Given the description of an element on the screen output the (x, y) to click on. 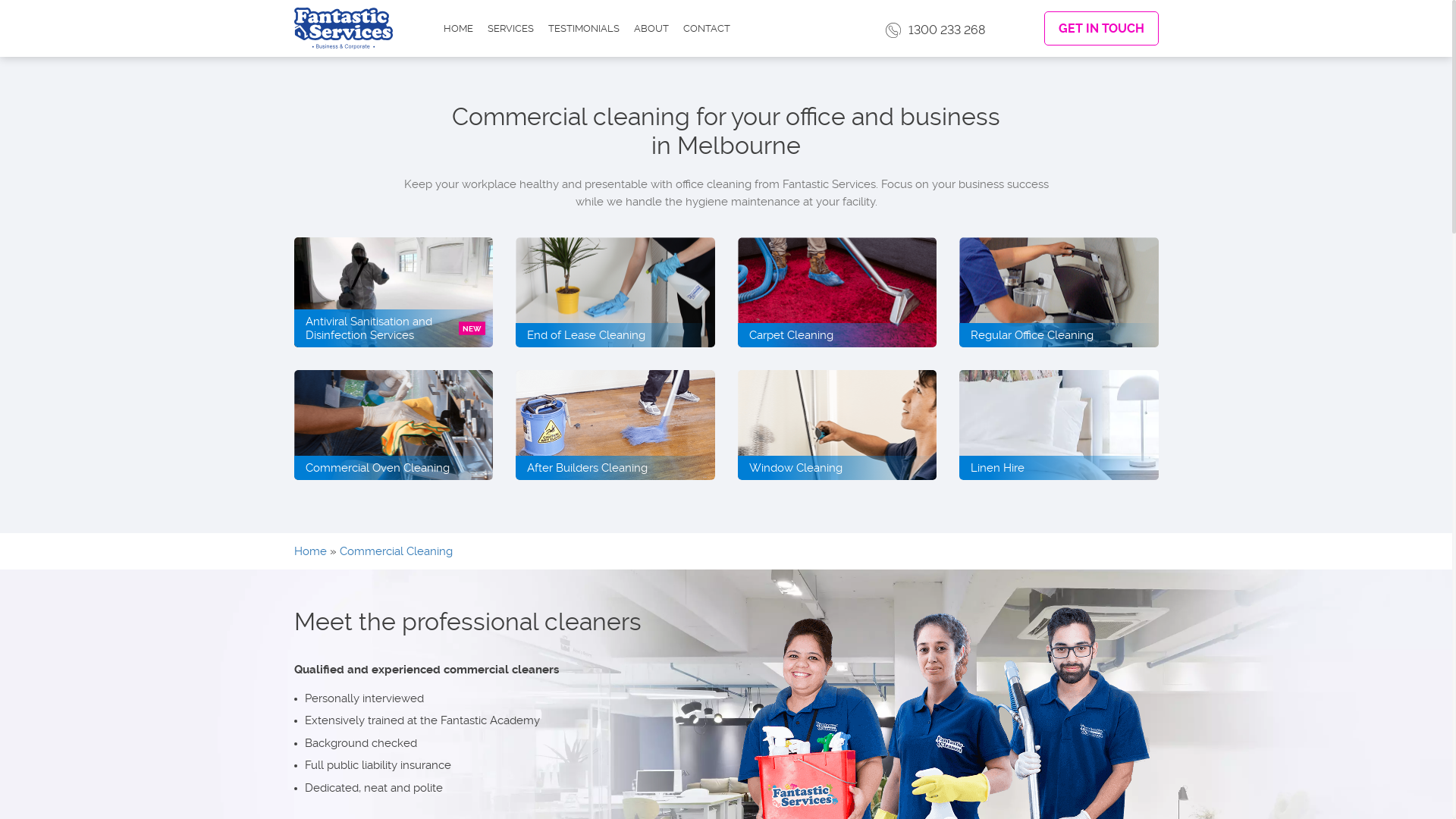
Linen Hire Element type: text (1058, 425)
1300 233 268 Element type: text (935, 29)
Home Element type: text (310, 551)
Commercial Cleaning Element type: text (395, 551)
CONTACT Element type: text (705, 28)
Carpet Cleaning Element type: text (836, 292)
Antiviral Sanitisation and Disinfection Services Element type: text (393, 292)
Commercial Oven Cleaning Element type: text (393, 425)
HOME Element type: text (457, 28)
TESTIMONIALS Element type: text (583, 28)
Regular Office Cleaning Element type: text (1058, 292)
Business Fantastic Services Element type: hover (343, 29)
Window Cleaning Element type: text (836, 425)
End of Lease Cleaning Element type: text (615, 292)
After Builders Cleaning Element type: text (615, 425)
SERVICES Element type: text (509, 28)
GET IN TOUCH Element type: text (1100, 28)
ABOUT Element type: text (651, 28)
